Given the description of an element on the screen output the (x, y) to click on. 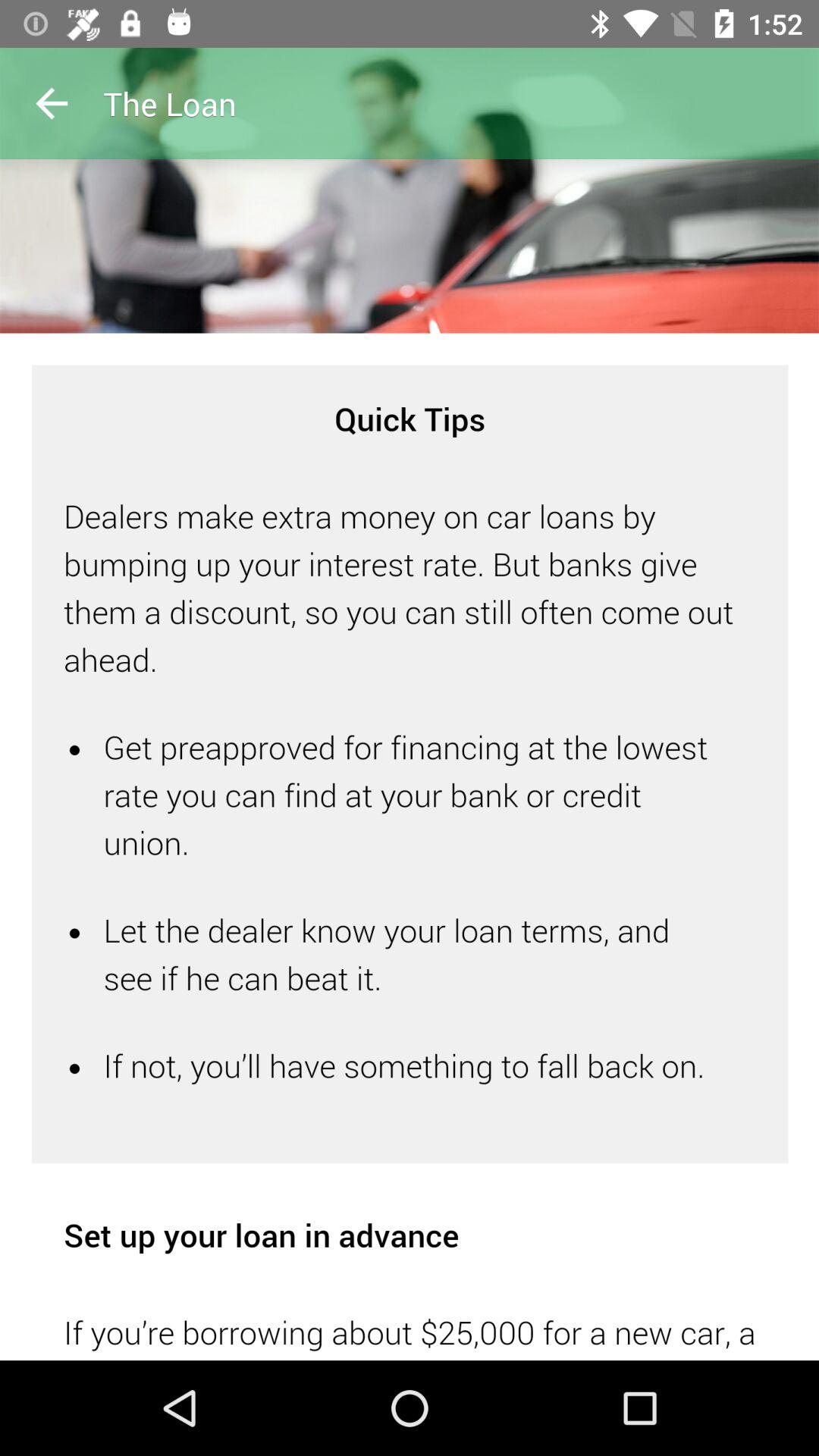
go to back (51, 103)
